Given the description of an element on the screen output the (x, y) to click on. 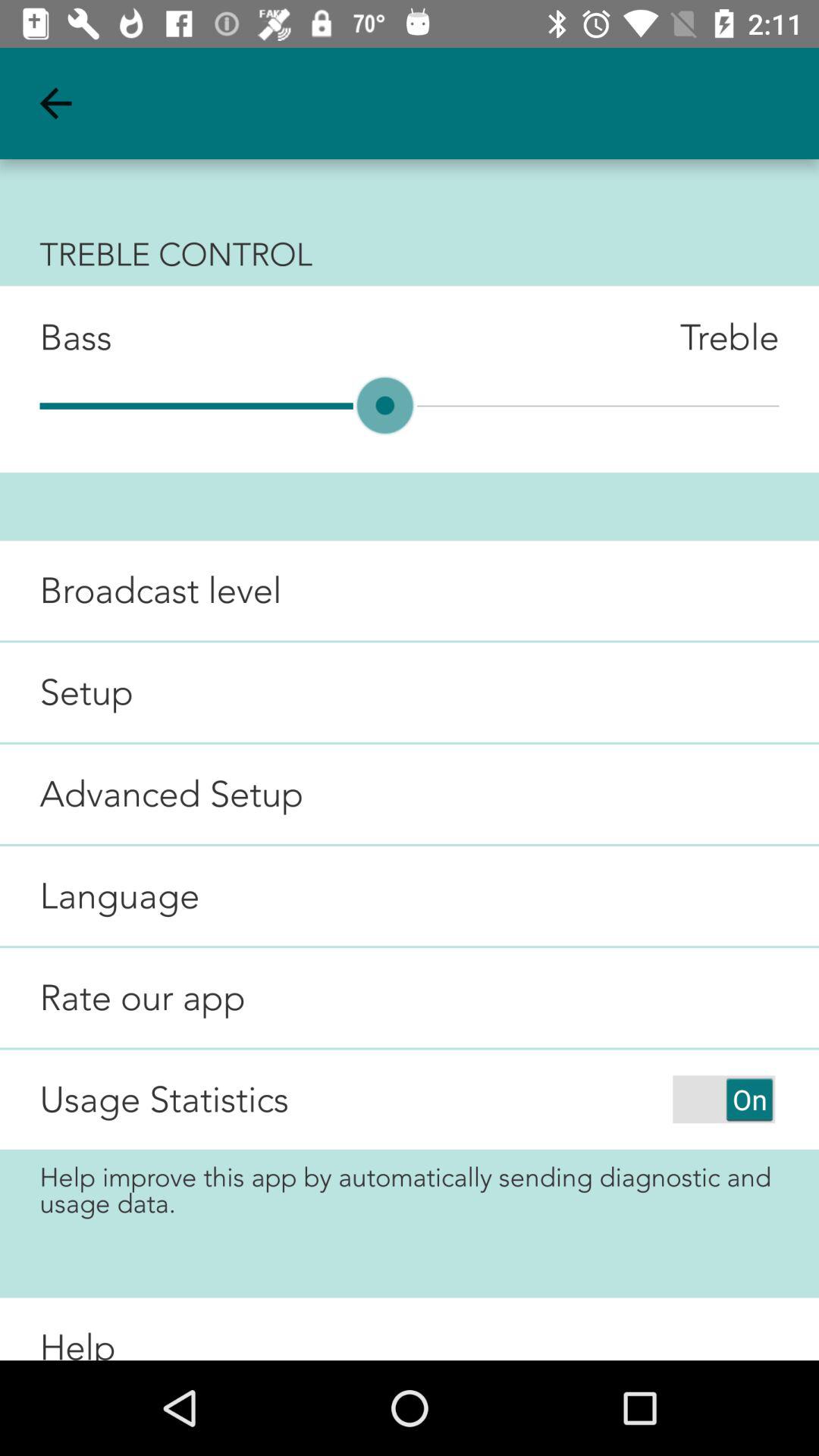
swipe until the broadcast level item (140, 590)
